Given the description of an element on the screen output the (x, y) to click on. 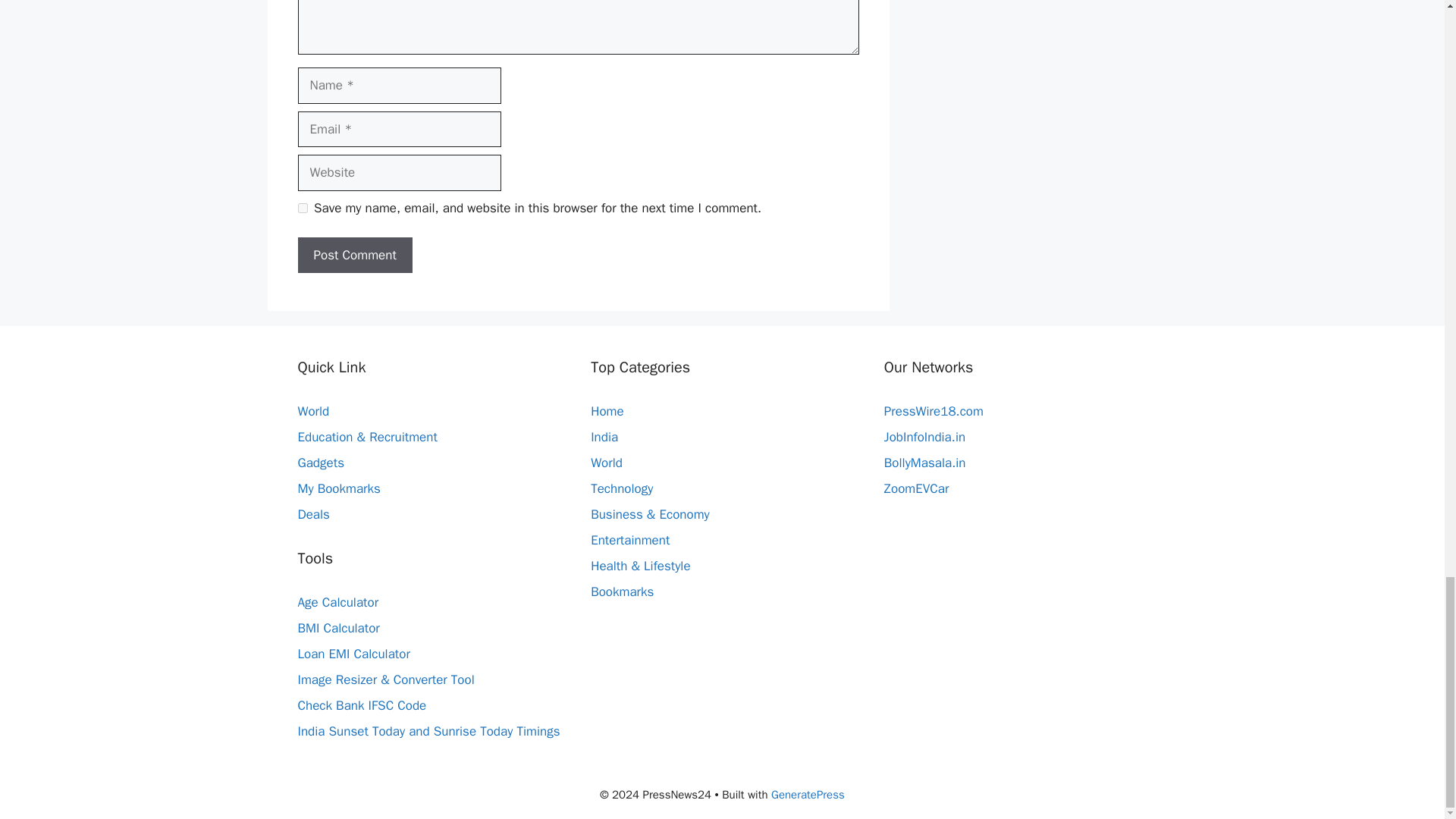
Age Calculator (337, 602)
Home (607, 411)
BMI Calculator (337, 627)
India Sunset Today and Sunrise Today Timings (428, 731)
World (607, 462)
Deals (313, 514)
Post Comment (354, 255)
Loan EMI Calculator (353, 653)
My Bookmarks (338, 488)
World (313, 411)
